Given the description of an element on the screen output the (x, y) to click on. 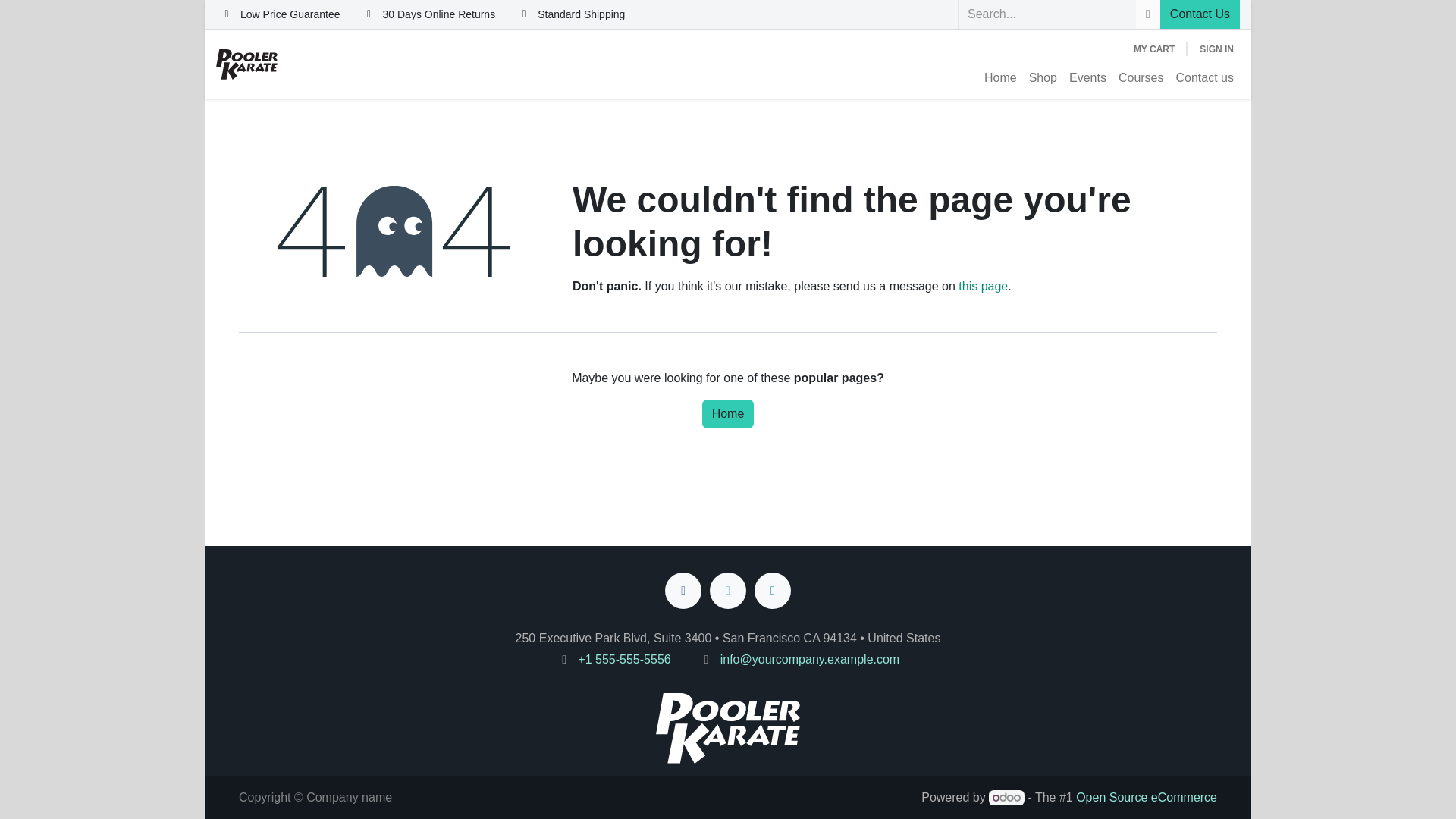
Courses (1141, 78)
Open Source eCommerce (1146, 797)
Events (1087, 78)
Shop (1042, 78)
SIGN IN (1216, 49)
Pooler Karate Student Hub (246, 64)
Contact Us (1200, 14)
this page (982, 286)
Contact us (1205, 78)
Home (1000, 78)
